Given the description of an element on the screen output the (x, y) to click on. 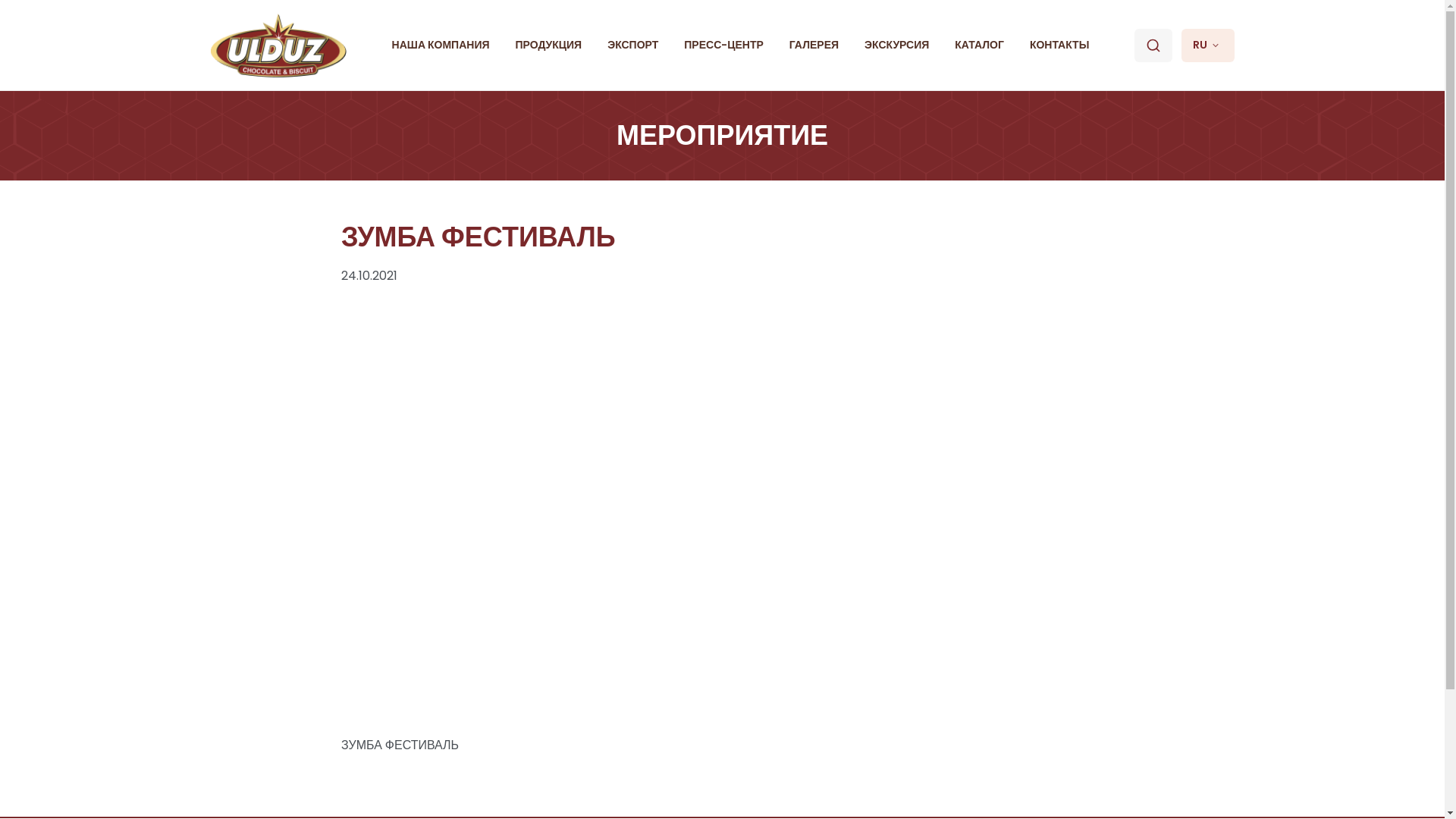
YouTube video player Element type: hover (722, 498)
RU Element type: text (1207, 45)
Ulduz Element type: hover (278, 45)
